Given the description of an element on the screen output the (x, y) to click on. 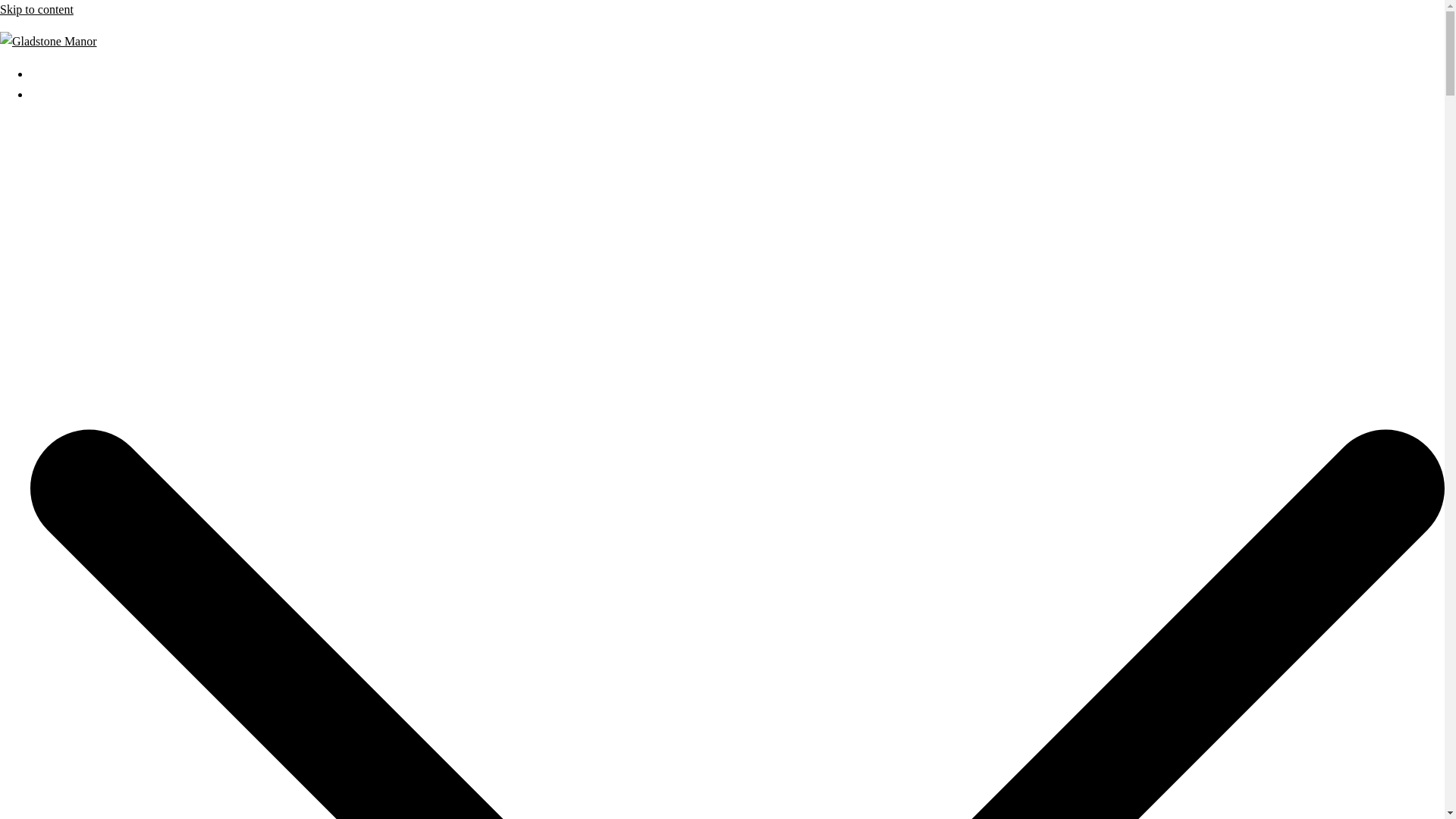
Home (44, 73)
Gladstone Manor (48, 41)
About (45, 93)
Skip to content (37, 9)
Home (44, 73)
